Given the description of an element on the screen output the (x, y) to click on. 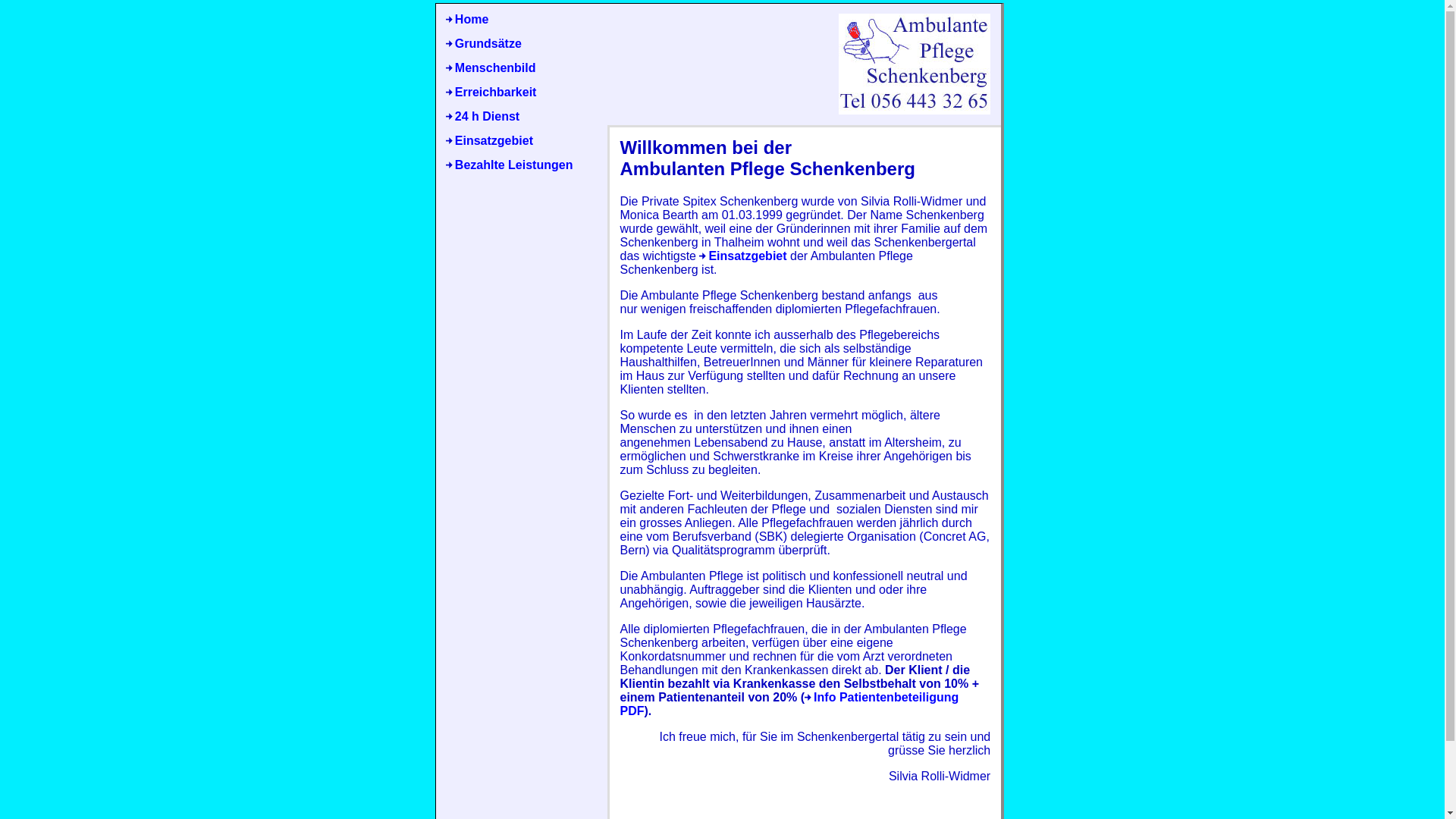
Einsatzgebiet Element type: text (742, 255)
Info Patientenbeteiligung PDF Element type: text (788, 703)
Bezahlte Leistungen Element type: text (509, 164)
Einsatzgebiet Element type: text (489, 140)
24 h Dienst Element type: text (482, 115)
Erreichbarkeit Element type: text (490, 91)
Home Element type: text (466, 18)
Menschenbild Element type: text (490, 67)
